Given the description of an element on the screen output the (x, y) to click on. 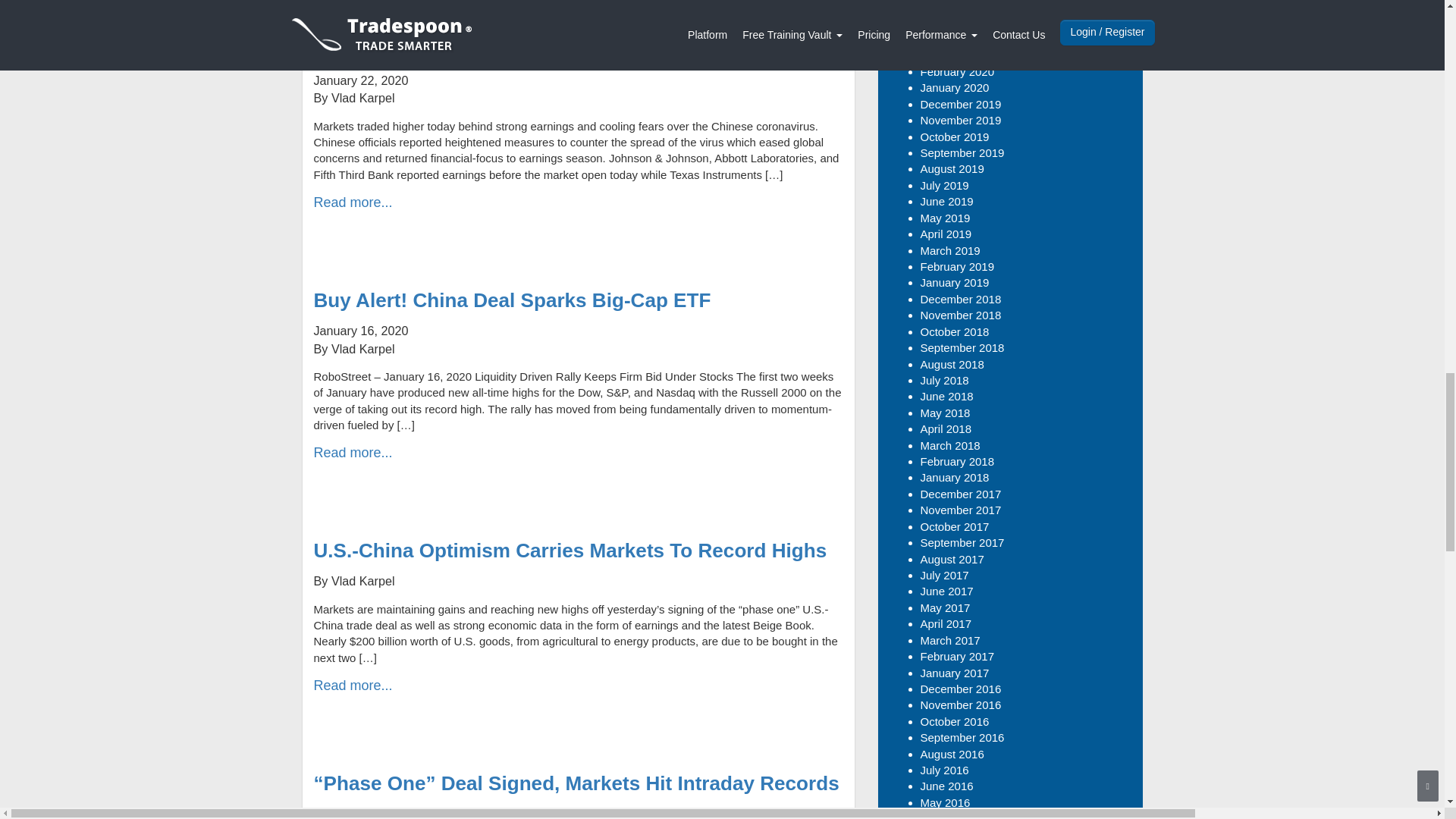
U.S.-China Optimism Carries Markets To Record Highs (570, 549)
Buy Alert! China Deal Sparks Big-Cap ETF (512, 300)
Read more... (353, 452)
Read more... (353, 685)
Read more... (353, 201)
